Given the description of an element on the screen output the (x, y) to click on. 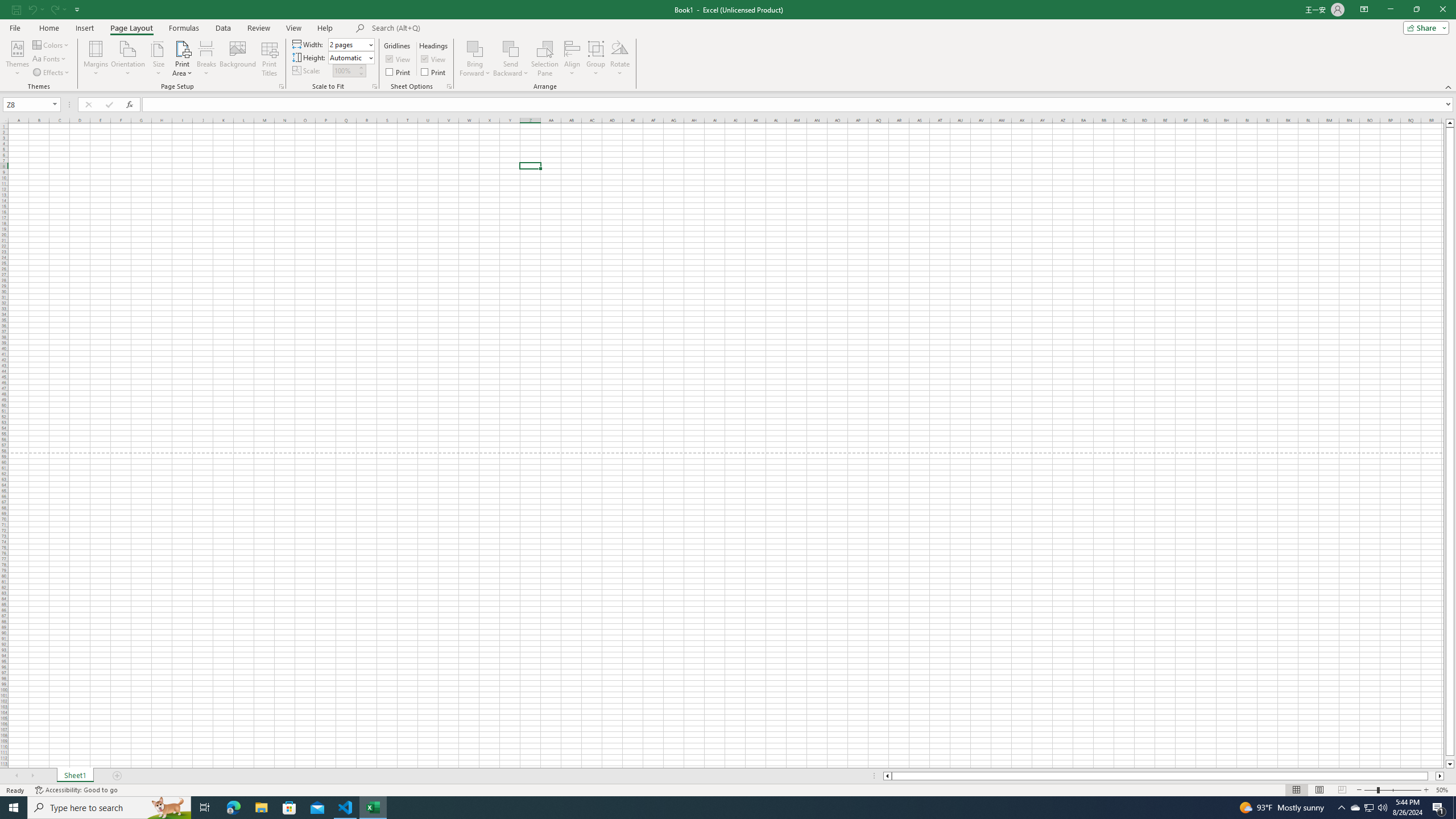
Bring Forward (475, 58)
Fonts (49, 58)
Selection Pane... (544, 58)
Margins (95, 58)
Orientation (128, 58)
Less (360, 73)
